Given the description of an element on the screen output the (x, y) to click on. 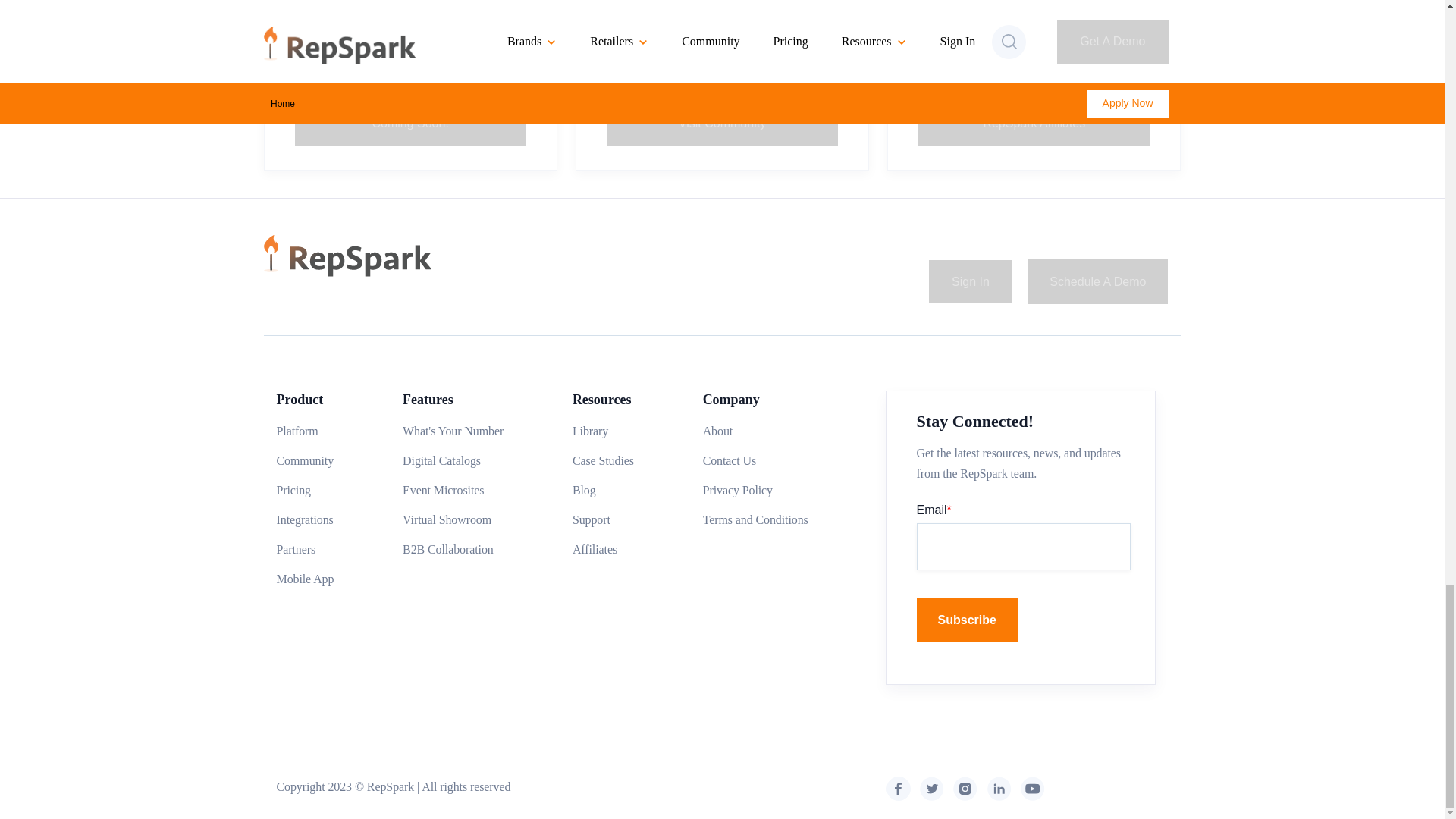
Subscribe (967, 620)
RepSparkLogo-2 (346, 255)
